Given the description of an element on the screen output the (x, y) to click on. 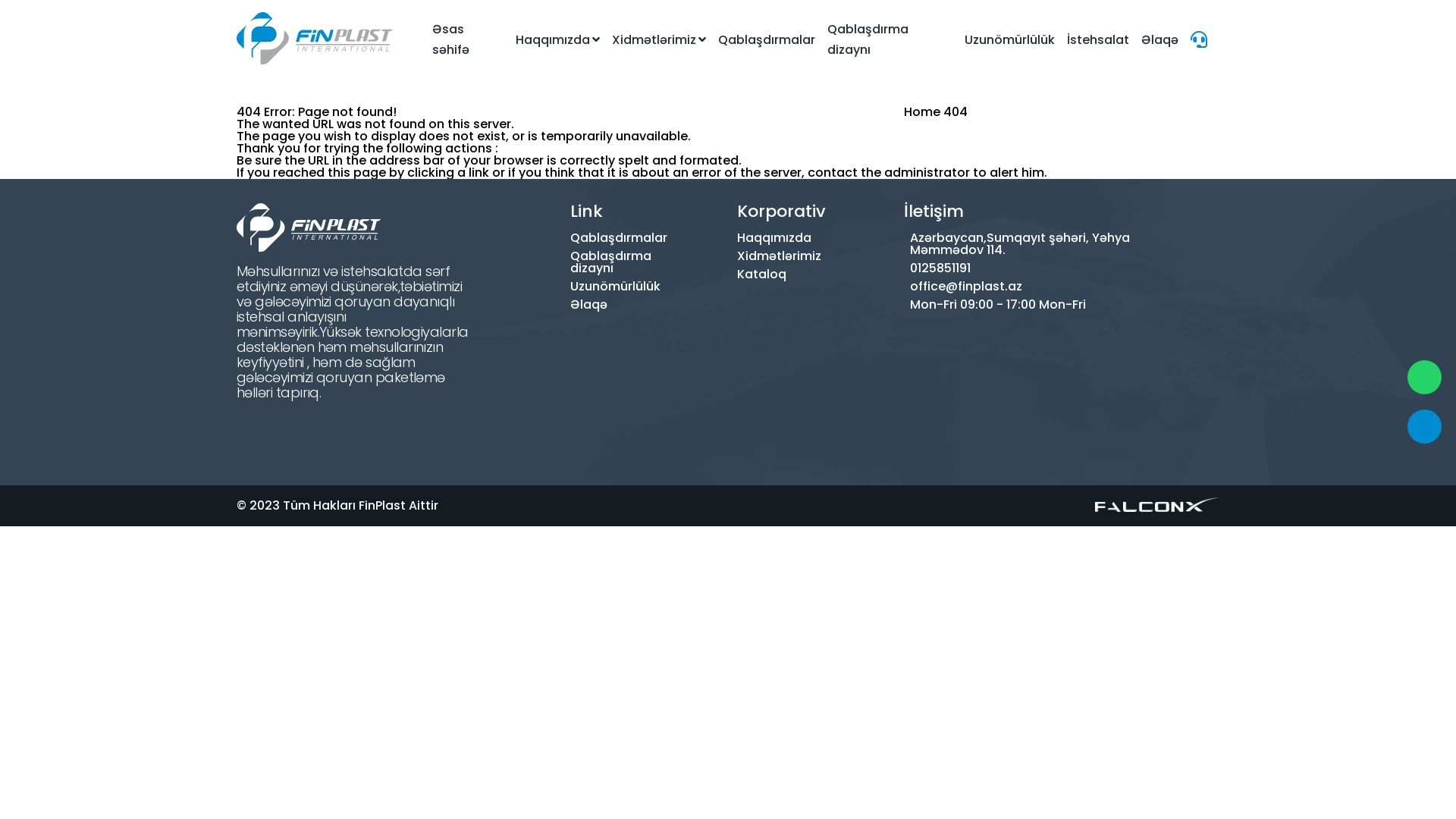
Home Element type: text (921, 111)
Kataloq Element type: text (749, 274)
Mon-Fri 09:00 - 17:00 Mon-Fri Element type: text (1019, 304)
0125851191 Element type: text (1019, 268)
office@finplast.az Element type: text (1019, 286)
